Given the description of an element on the screen output the (x, y) to click on. 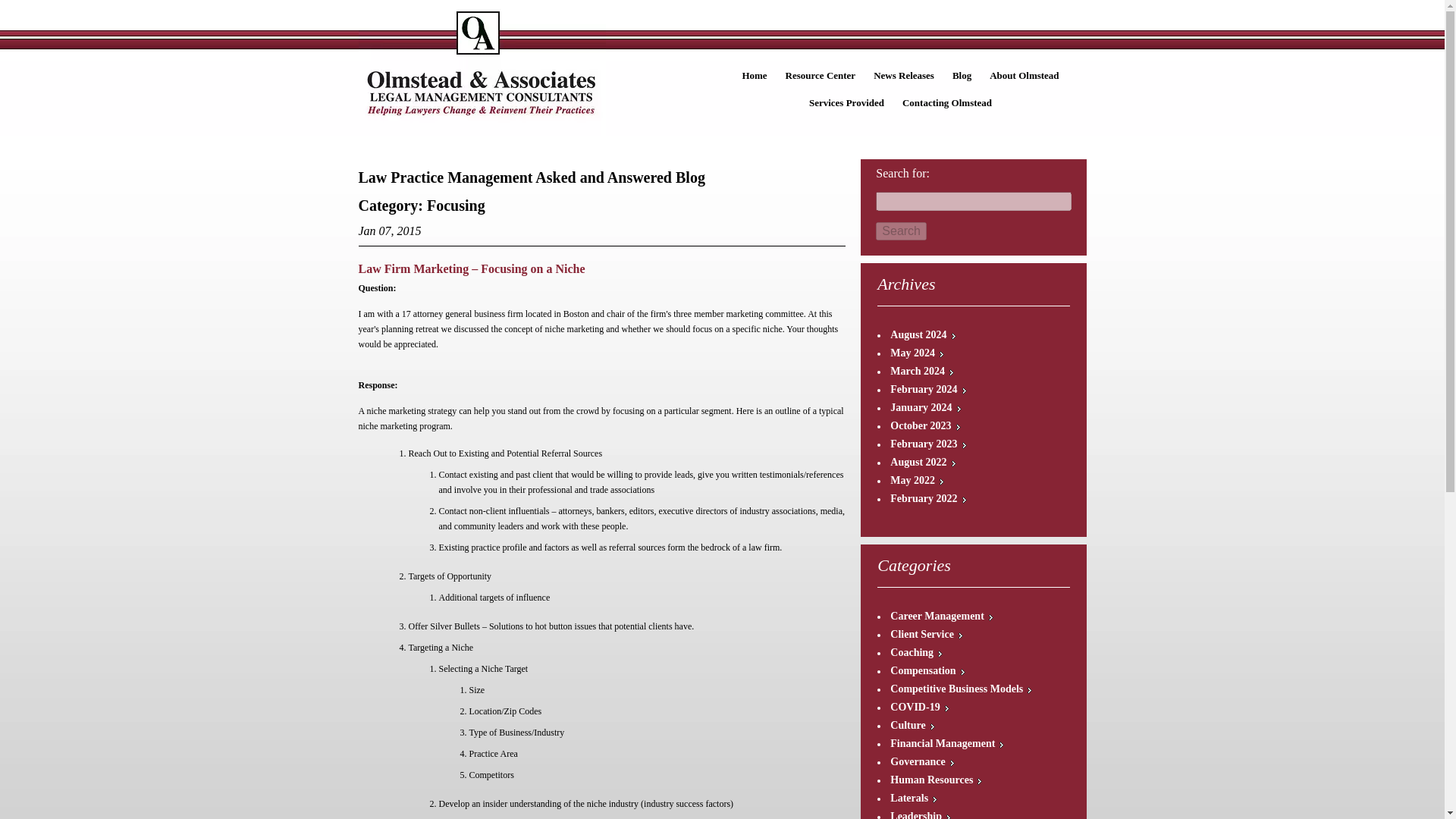
About Olmstead (1023, 75)
February 2024 (927, 389)
February 2023 (927, 443)
August 2024 (922, 334)
Search for: (973, 200)
Home (753, 75)
March 2024 (921, 370)
Blog (961, 75)
Search (901, 230)
August 2022 (922, 461)
